Given the description of an element on the screen output the (x, y) to click on. 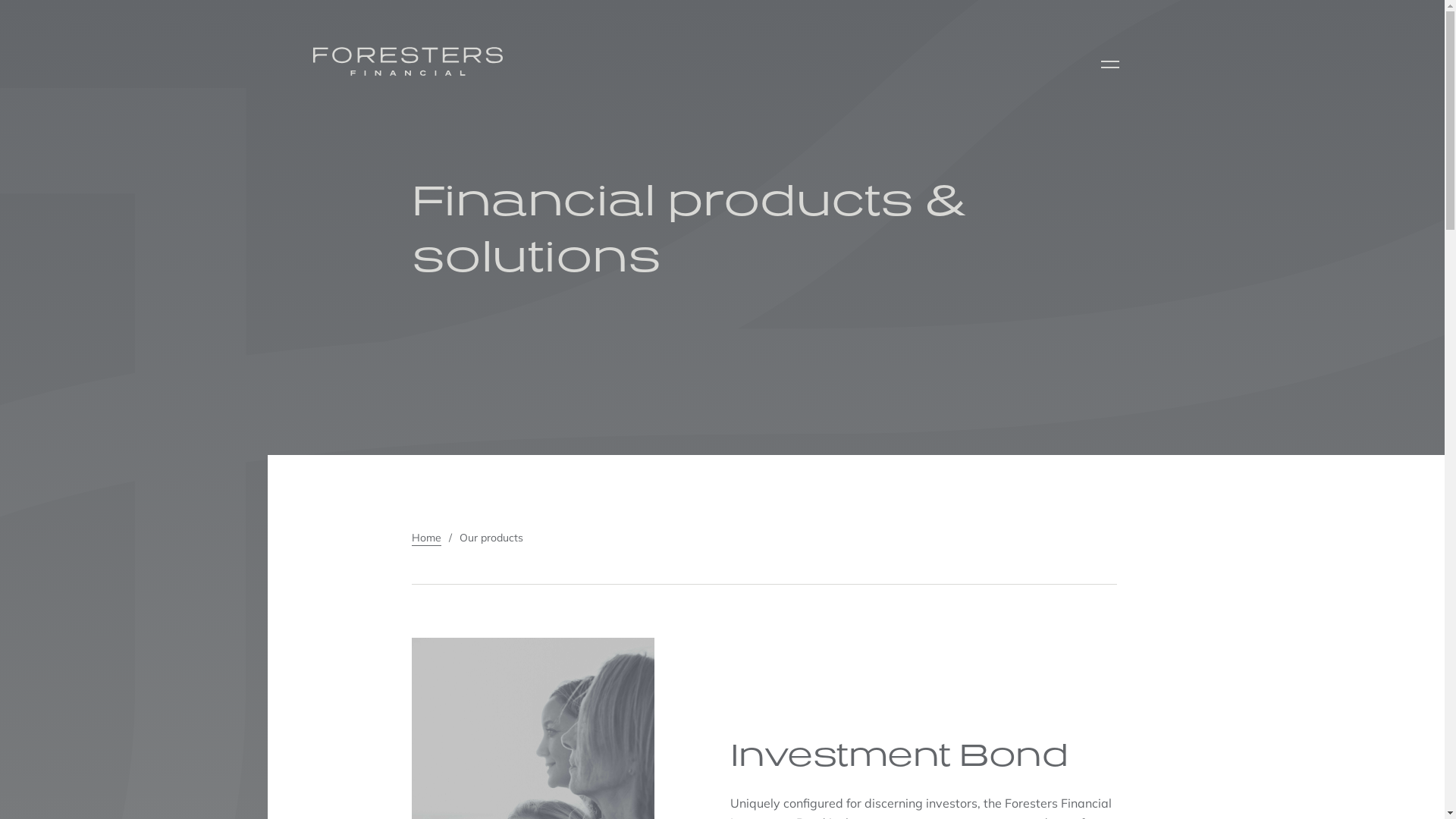
Investment Bond Element type: text (898, 753)
Foresters Financial homepage Element type: text (407, 61)
Toggle navigation menu Element type: text (1109, 64)
Our products Element type: text (491, 538)
Home Element type: text (425, 538)
